Given the description of an element on the screen output the (x, y) to click on. 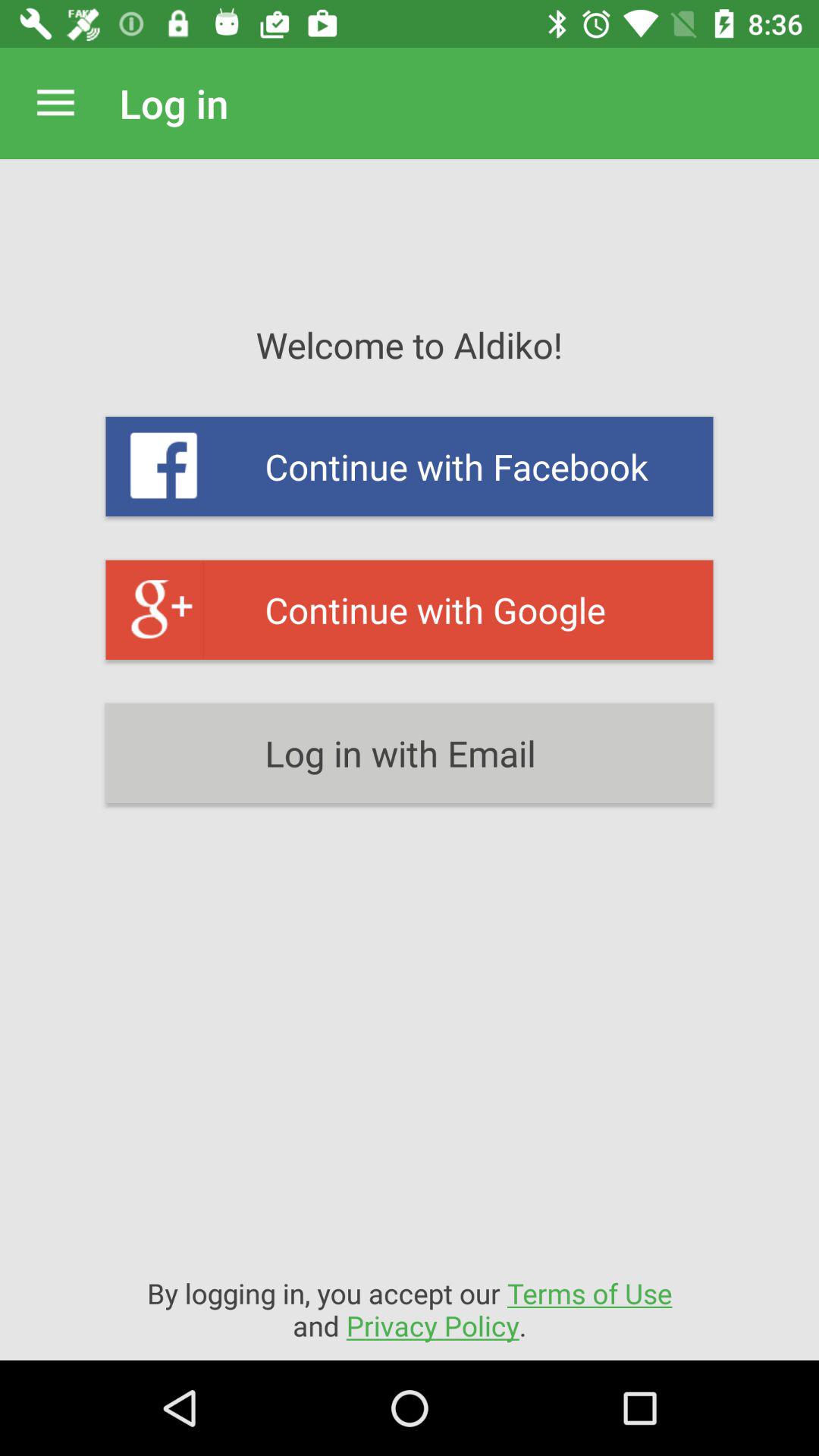
flip to the by logging in icon (409, 1309)
